Given the description of an element on the screen output the (x, y) to click on. 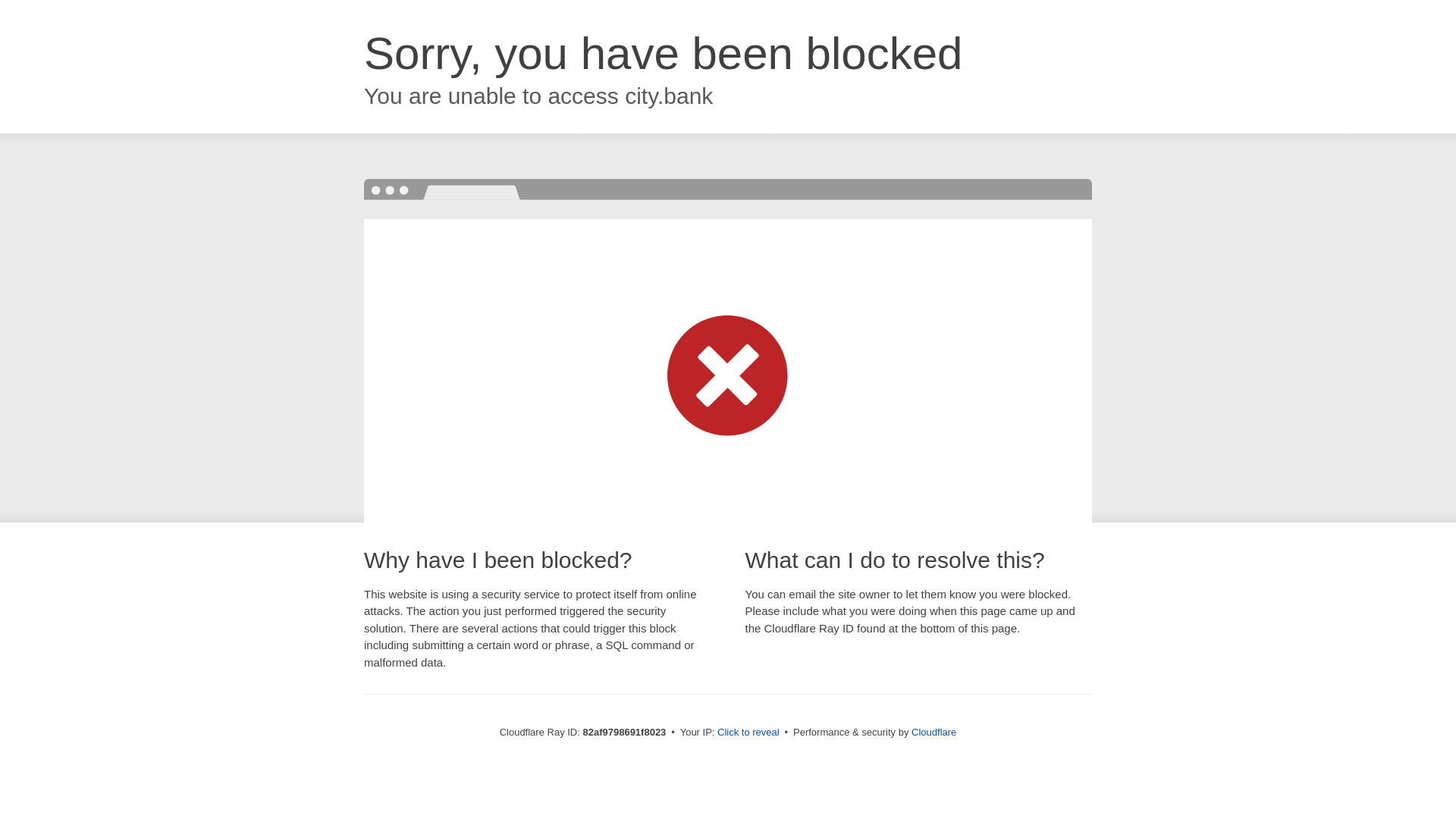
Cloudflare Element type: text (933, 731)
Click to reveal Element type: text (748, 732)
